Given the description of an element on the screen output the (x, y) to click on. 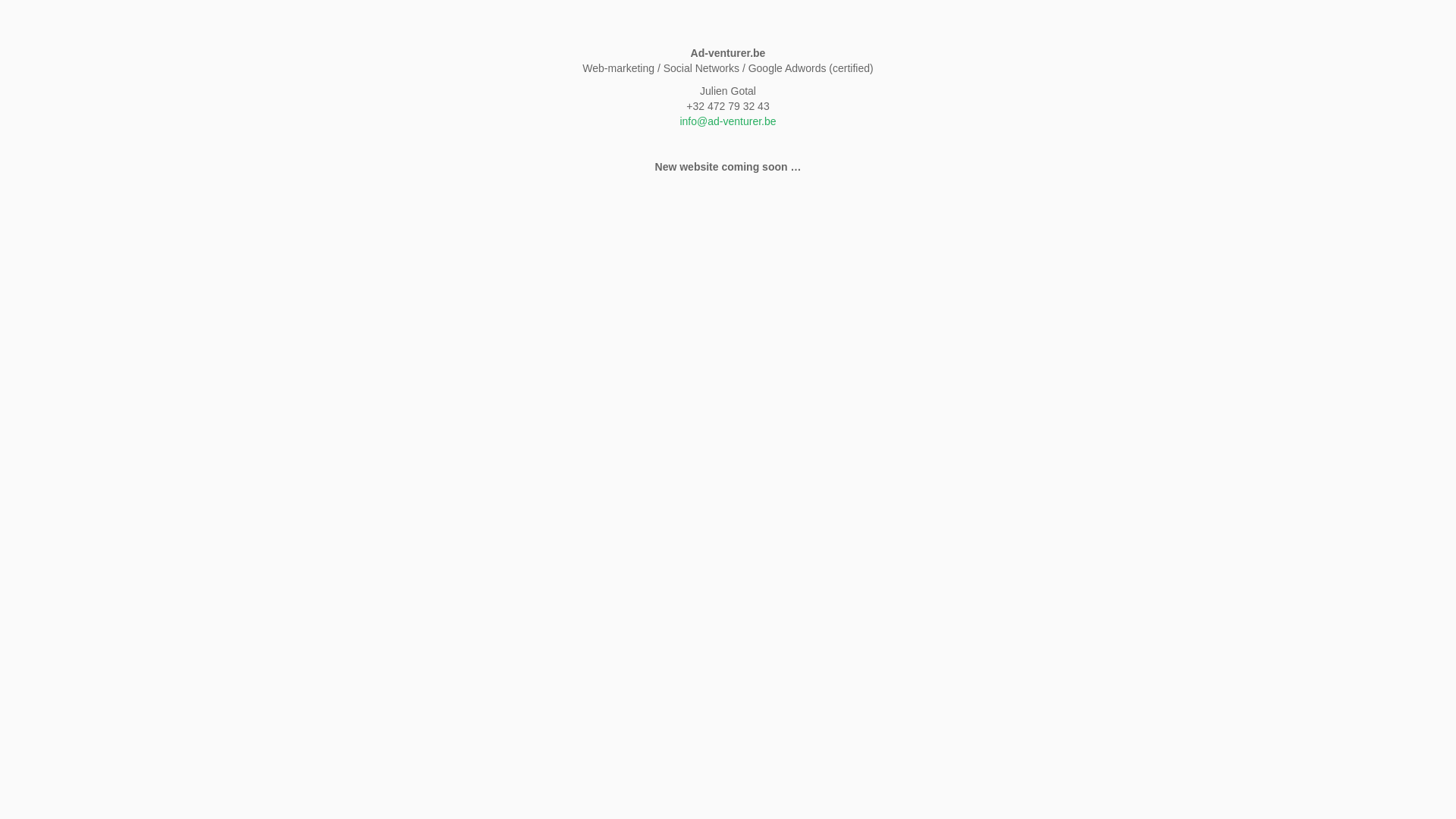
info@ad-venturer.be Element type: text (727, 121)
